Given the description of an element on the screen output the (x, y) to click on. 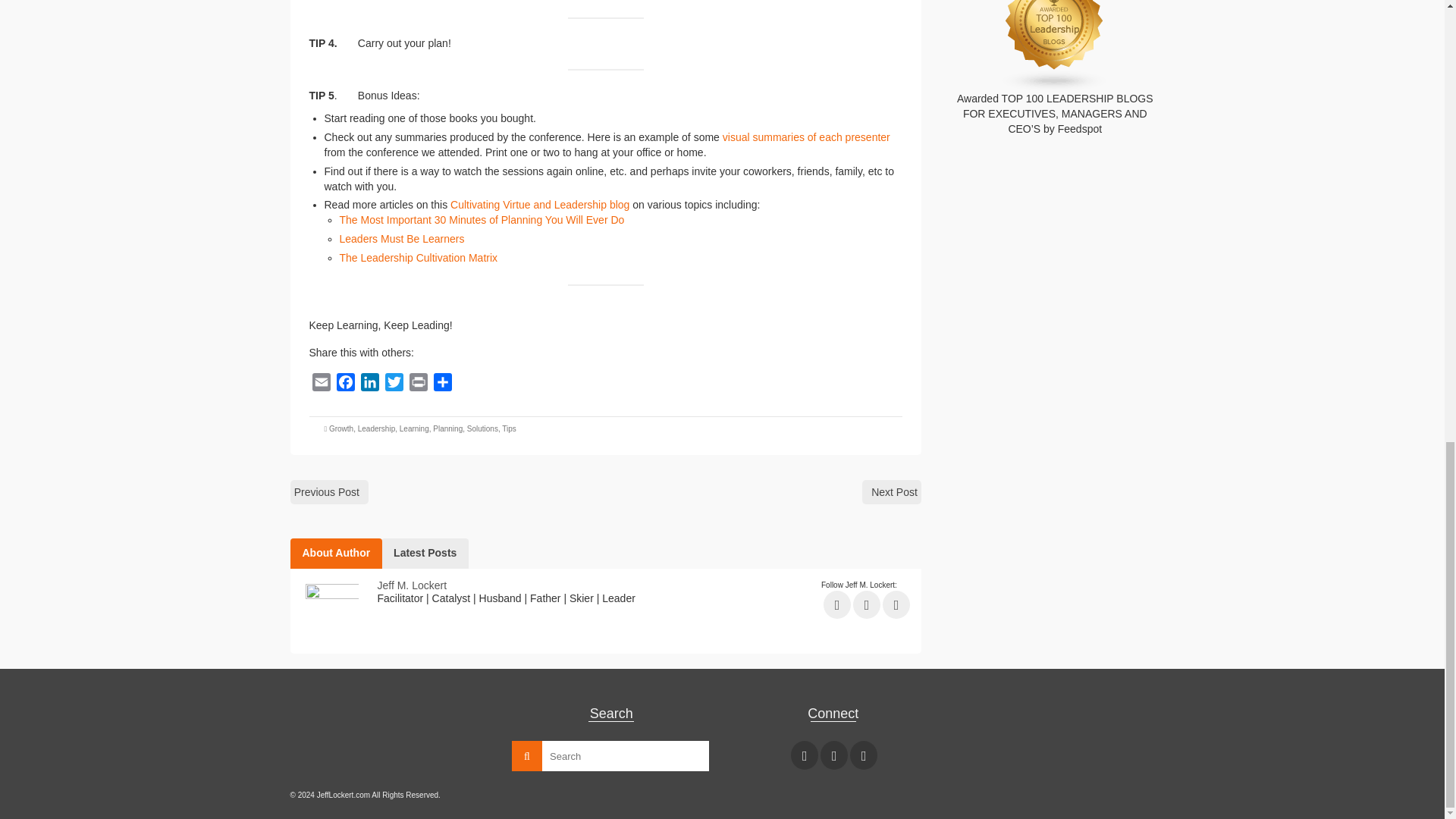
LinkedIn (369, 384)
Posts by Jeff M. Lockert (411, 585)
Facebook (345, 384)
Email (320, 384)
Follow  Jeff M. Lockert on Facebook (837, 604)
Follow  Jeff M. Lockert on Twitter (866, 604)
Print (418, 384)
Twitter (393, 384)
Follow  Jeff M. Lockert on linkedin (896, 604)
